Given the description of an element on the screen output the (x, y) to click on. 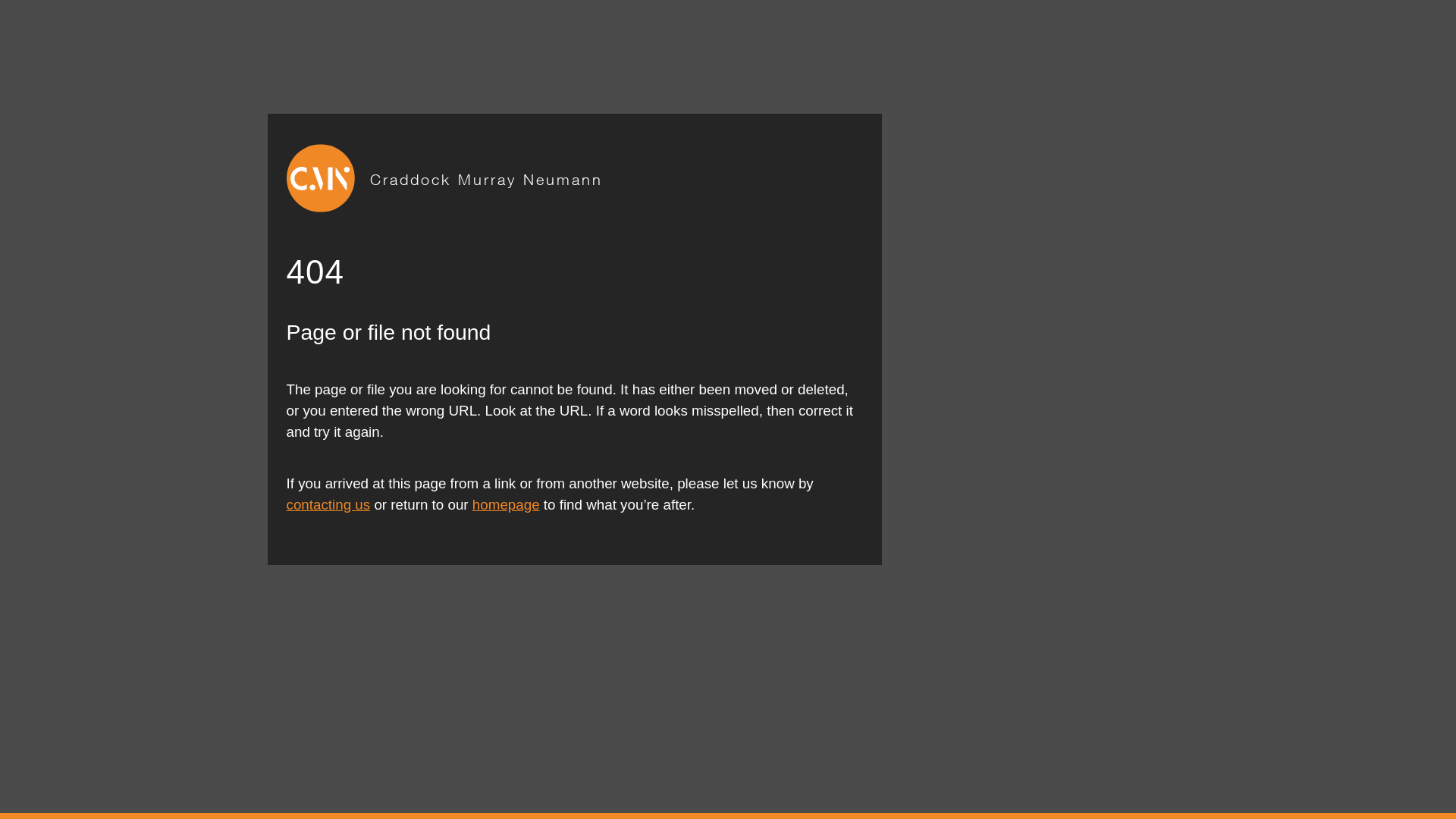
Craddock Murray Neumann Element type: text (486, 177)
contacting us Element type: text (328, 504)
homepage Element type: text (505, 504)
